Given the description of an element on the screen output the (x, y) to click on. 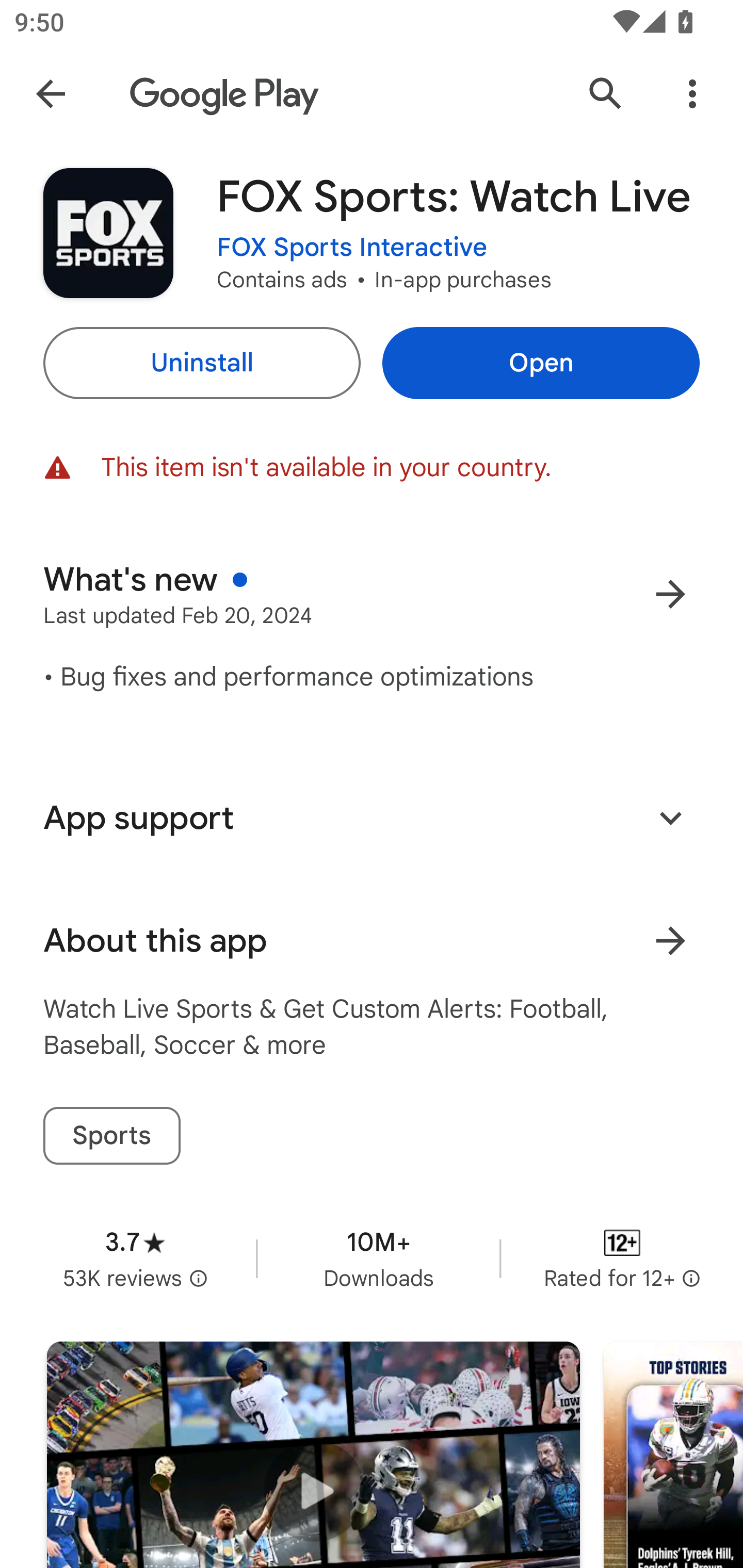
Navigate up (50, 93)
Search Google Play (605, 93)
More Options (692, 93)
FOX Sports Interactive (351, 247)
Uninstall (201, 362)
Open (540, 362)
More results for What's new (670, 594)
App support Expand (371, 817)
Expand (670, 817)
About this app Learn more About this app (371, 940)
Learn more About this app (670, 940)
Sports tag (111, 1135)
Average rating 3.7 stars in 53 thousand reviews (135, 1258)
Content rating Rated for 12+ (622, 1258)
Play trailer for "FOX Sports: Watch Live" (313, 1455)
